Given the description of an element on the screen output the (x, y) to click on. 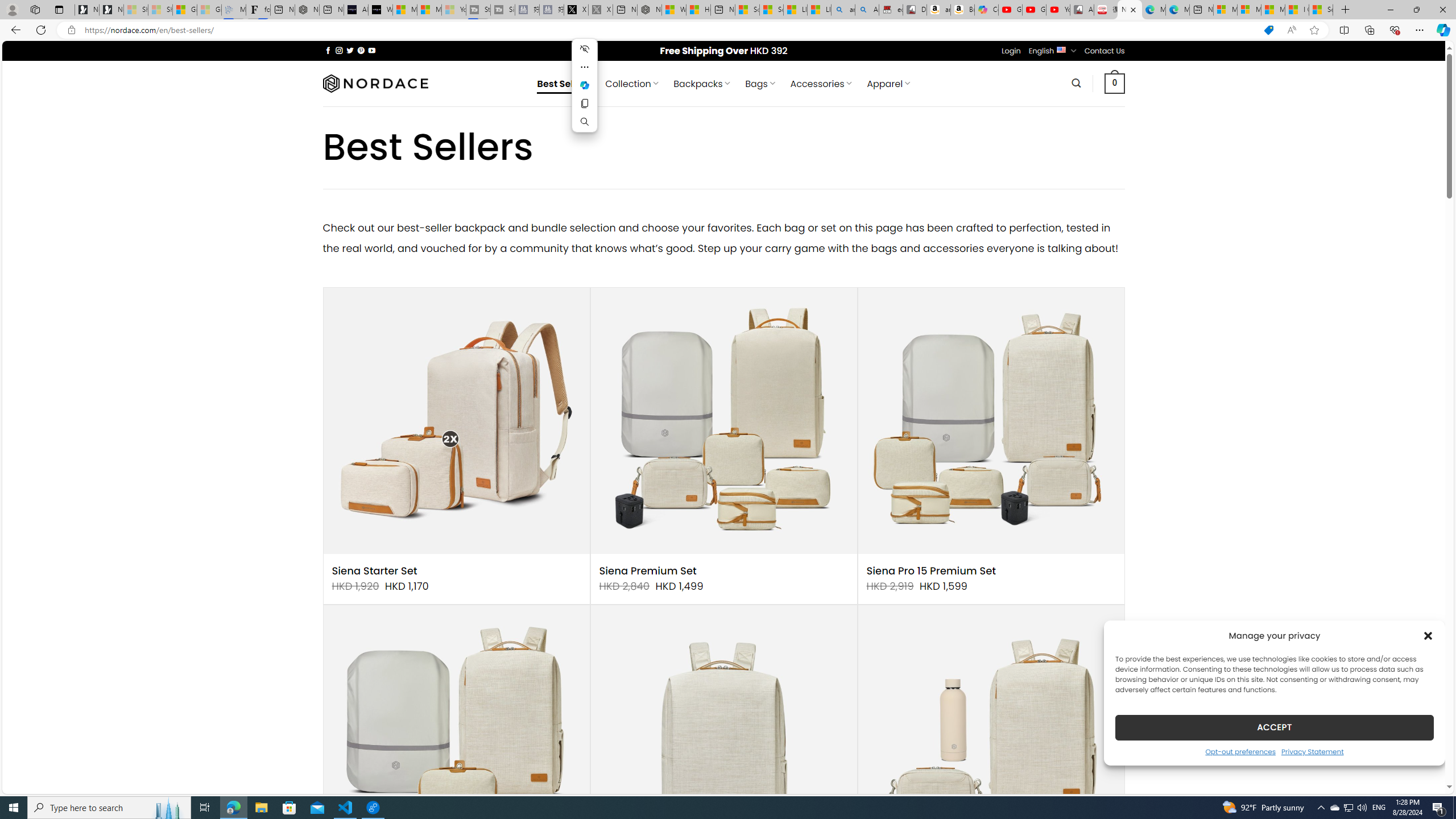
amazon.in/dp/B0CX59H5W7/?tag=gsmcom05-21 (938, 9)
